Given the description of an element on the screen output the (x, y) to click on. 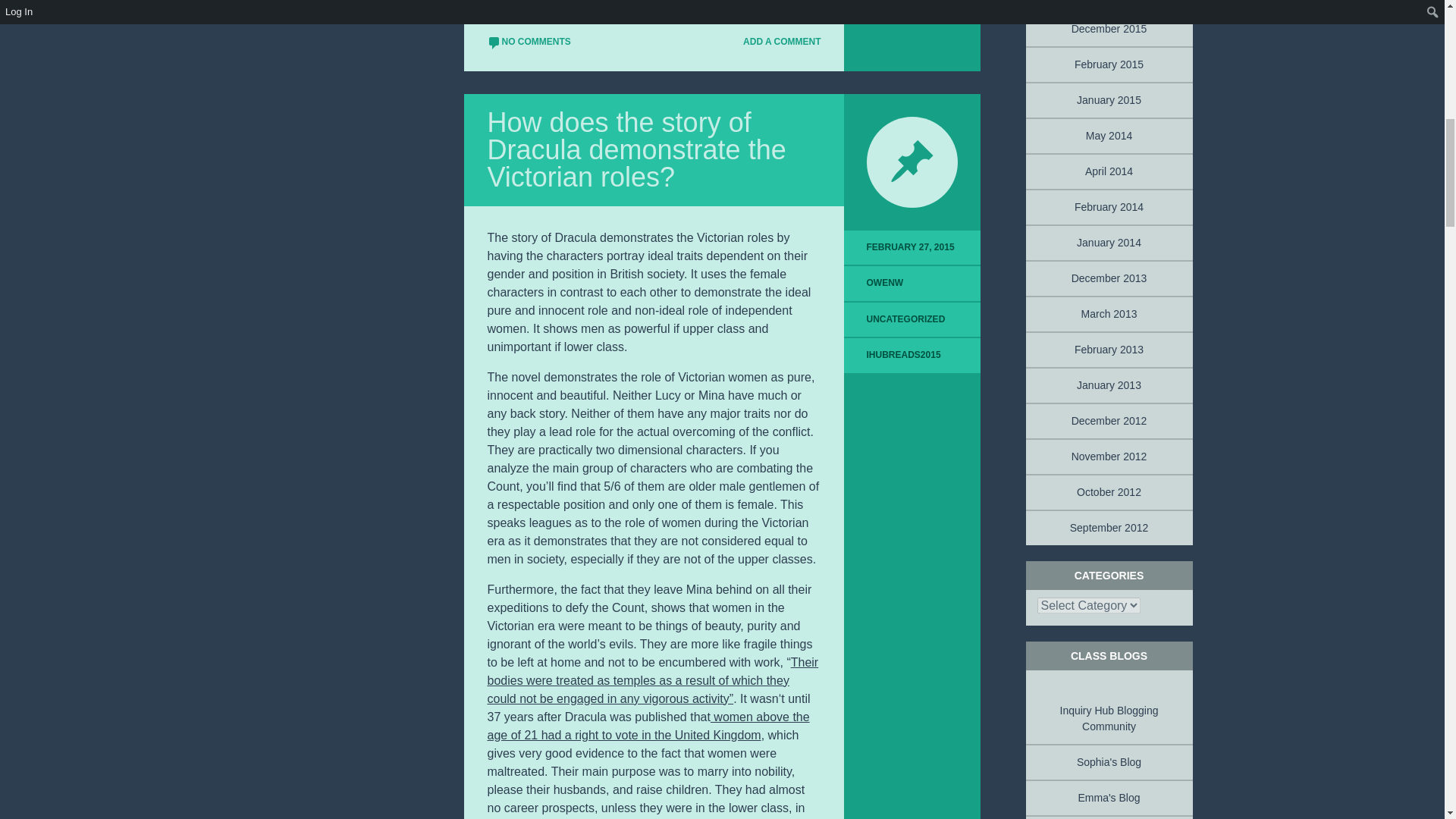
IHUBREADS2015 (903, 354)
OWENW (885, 282)
UNCATEGORIZED (905, 318)
NO COMMENTS (528, 42)
FEBRUARY 27, 2015 (911, 247)
ADD A COMMENT (775, 42)
View all posts by owenw (885, 282)
